Given the description of an element on the screen output the (x, y) to click on. 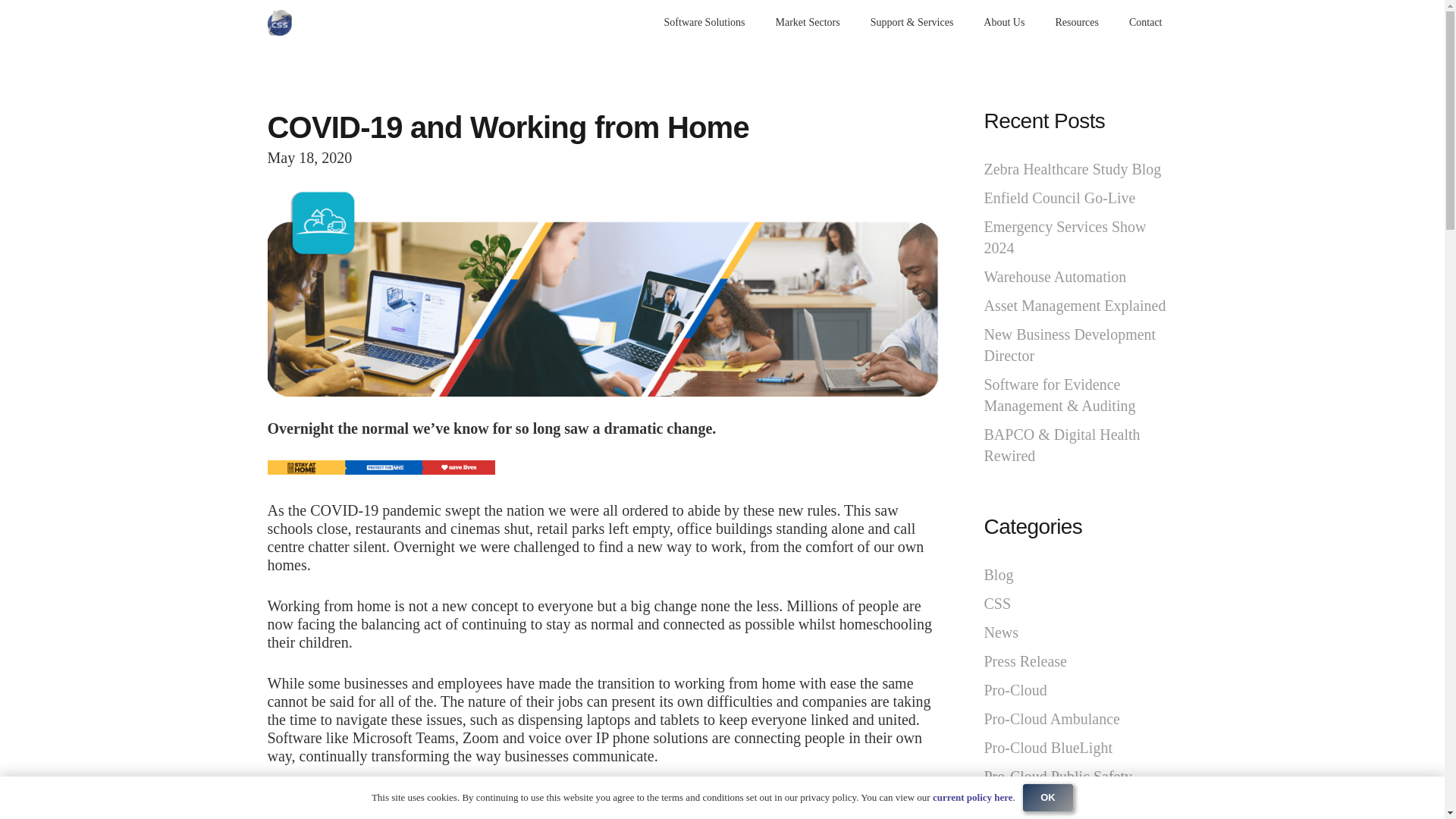
Contact (1145, 22)
Software Solutions (704, 22)
About Us (1003, 22)
Resources (1076, 22)
Market Sectors (808, 22)
